Given the description of an element on the screen output the (x, y) to click on. 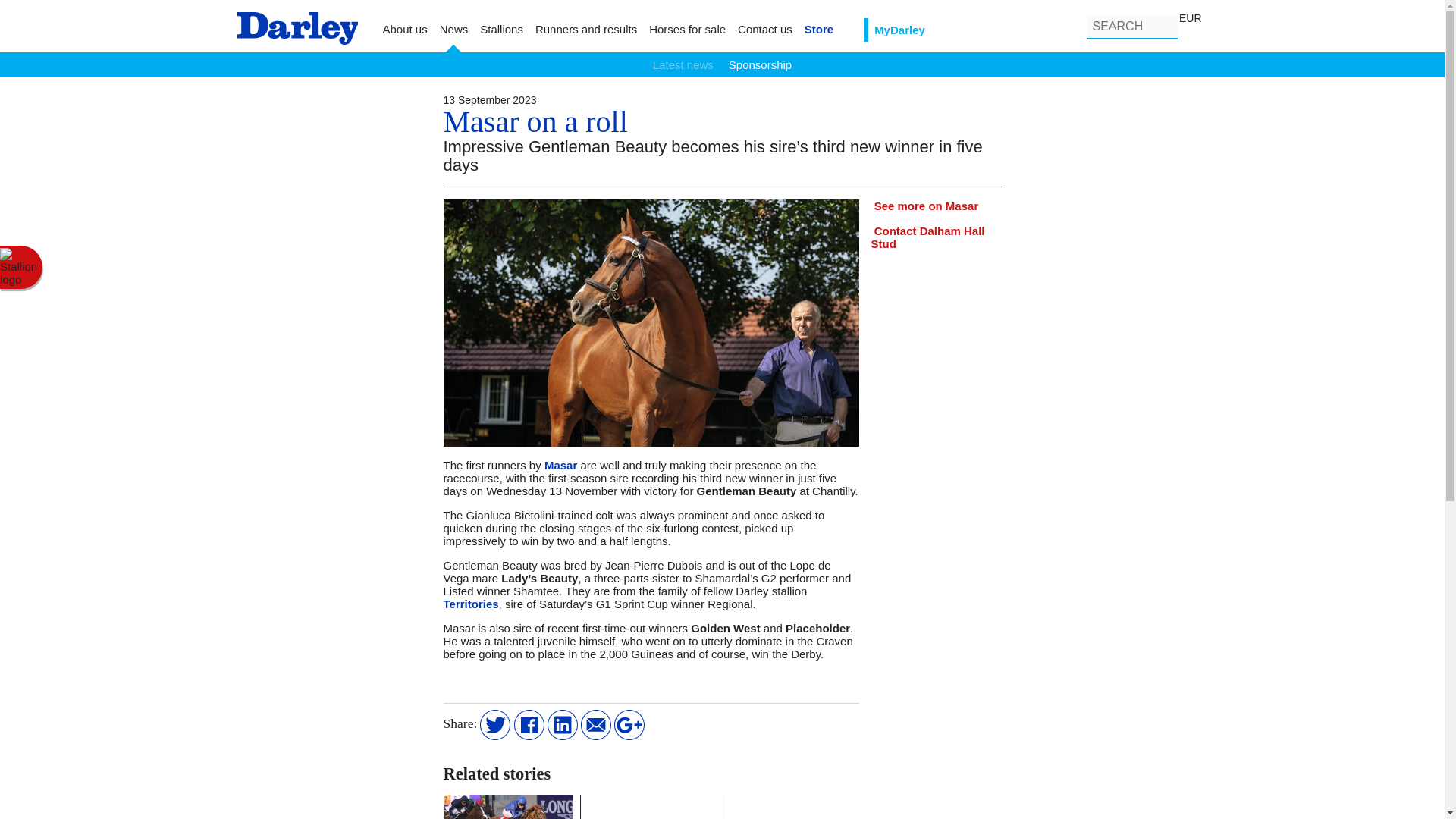
Enter the terms you wish to search for. (1131, 27)
Search (1163, 27)
Email This Page (595, 723)
